Given the description of an element on the screen output the (x, y) to click on. 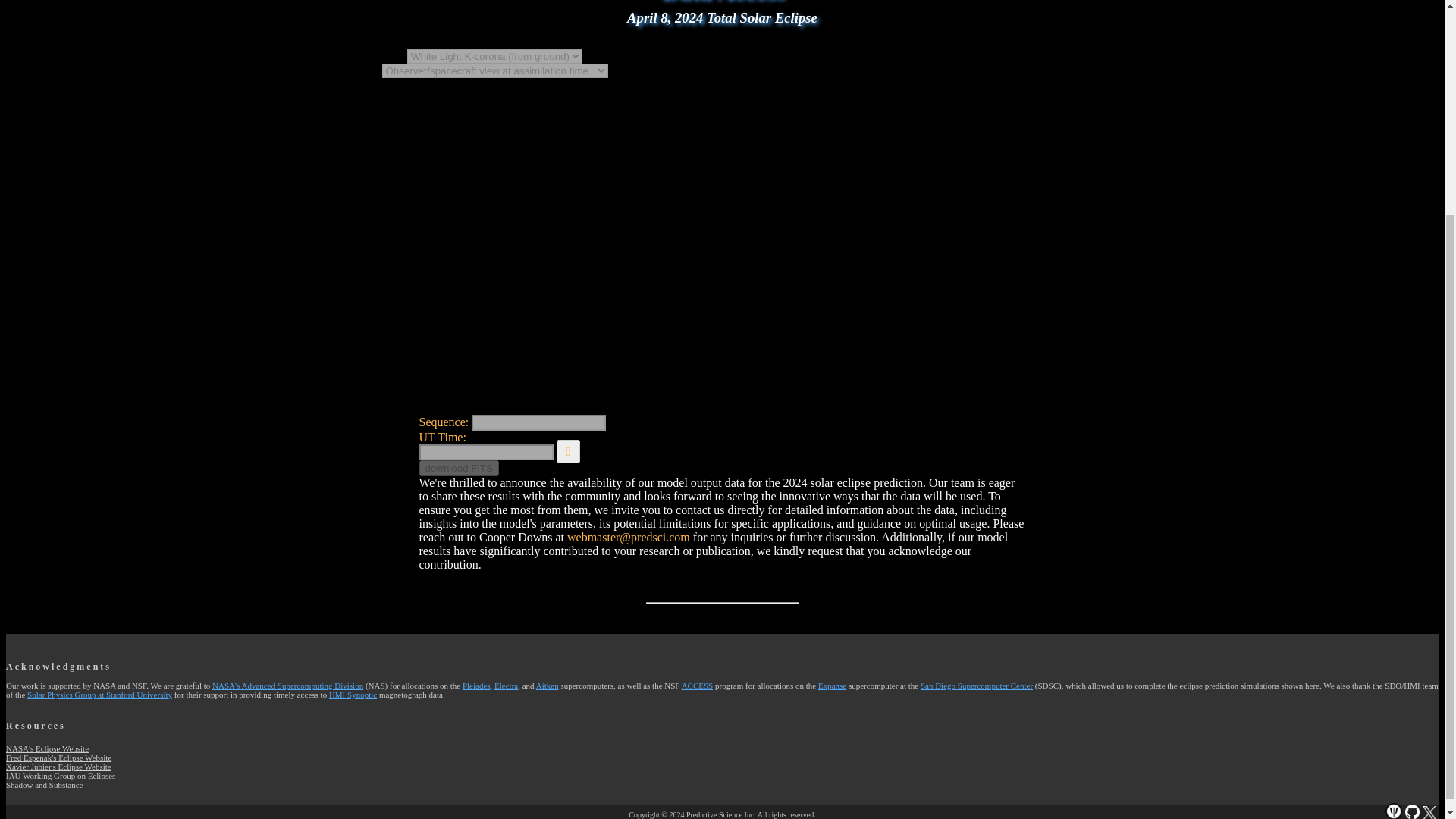
Electra (506, 685)
NASA's Eclipse Website (46, 747)
Xavier Jubier's Eclipse Website (58, 766)
San Diego Supercomputer Center (976, 685)
Fred Espenak's Eclipse Website (58, 757)
NASA's Advanced Supercomputing Division (287, 685)
ACCESS (697, 685)
download FITS (459, 467)
Solar Physics Group at Stanford University (99, 694)
HMI Synoptic (353, 694)
Expanse (831, 685)
download FITS (459, 467)
Pleiades (476, 685)
Aitken (547, 685)
